Given the description of an element on the screen output the (x, y) to click on. 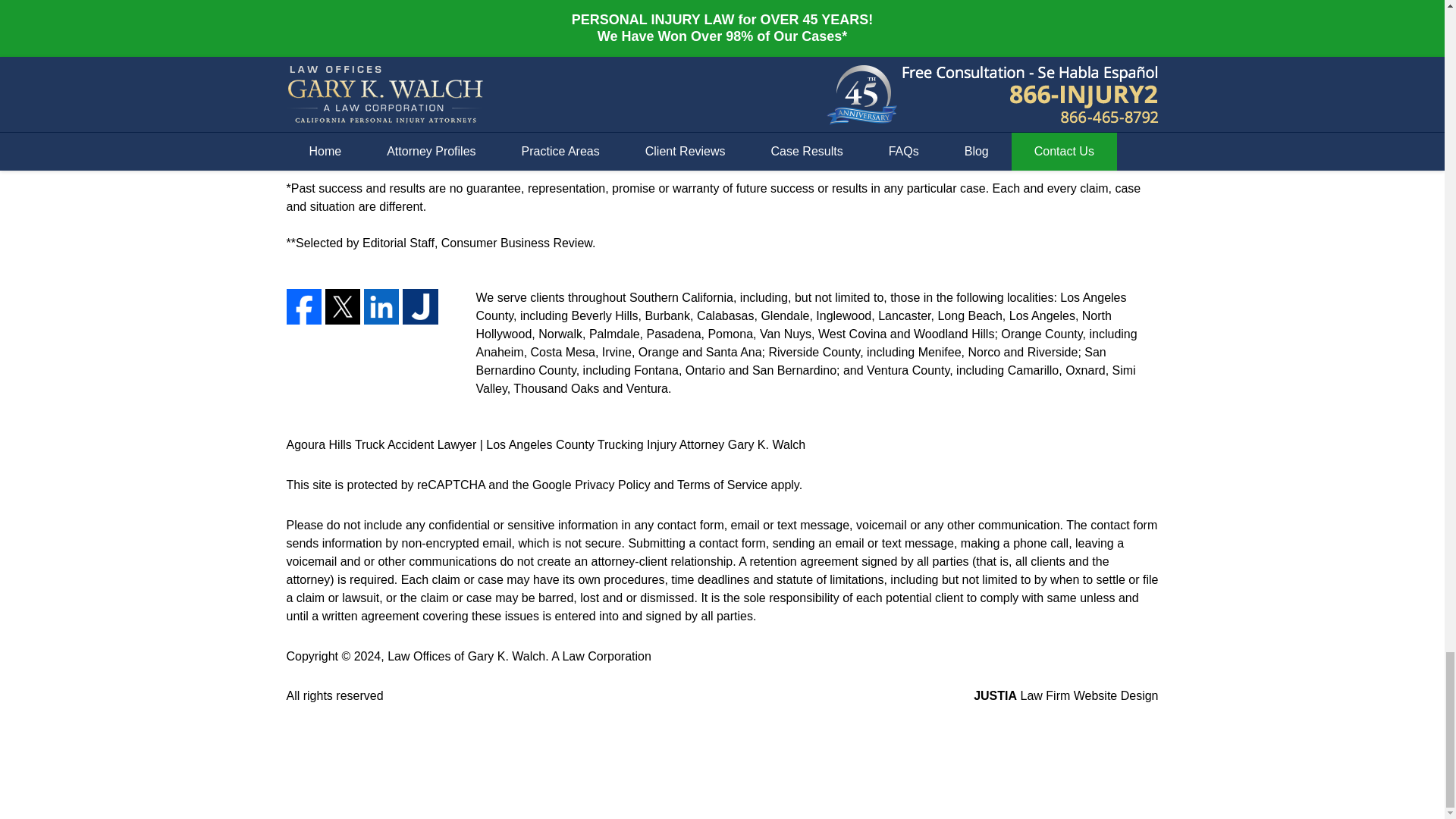
Facebook (303, 306)
Justia (420, 306)
LinkedIn (381, 306)
Twitter (341, 306)
